Given the description of an element on the screen output the (x, y) to click on. 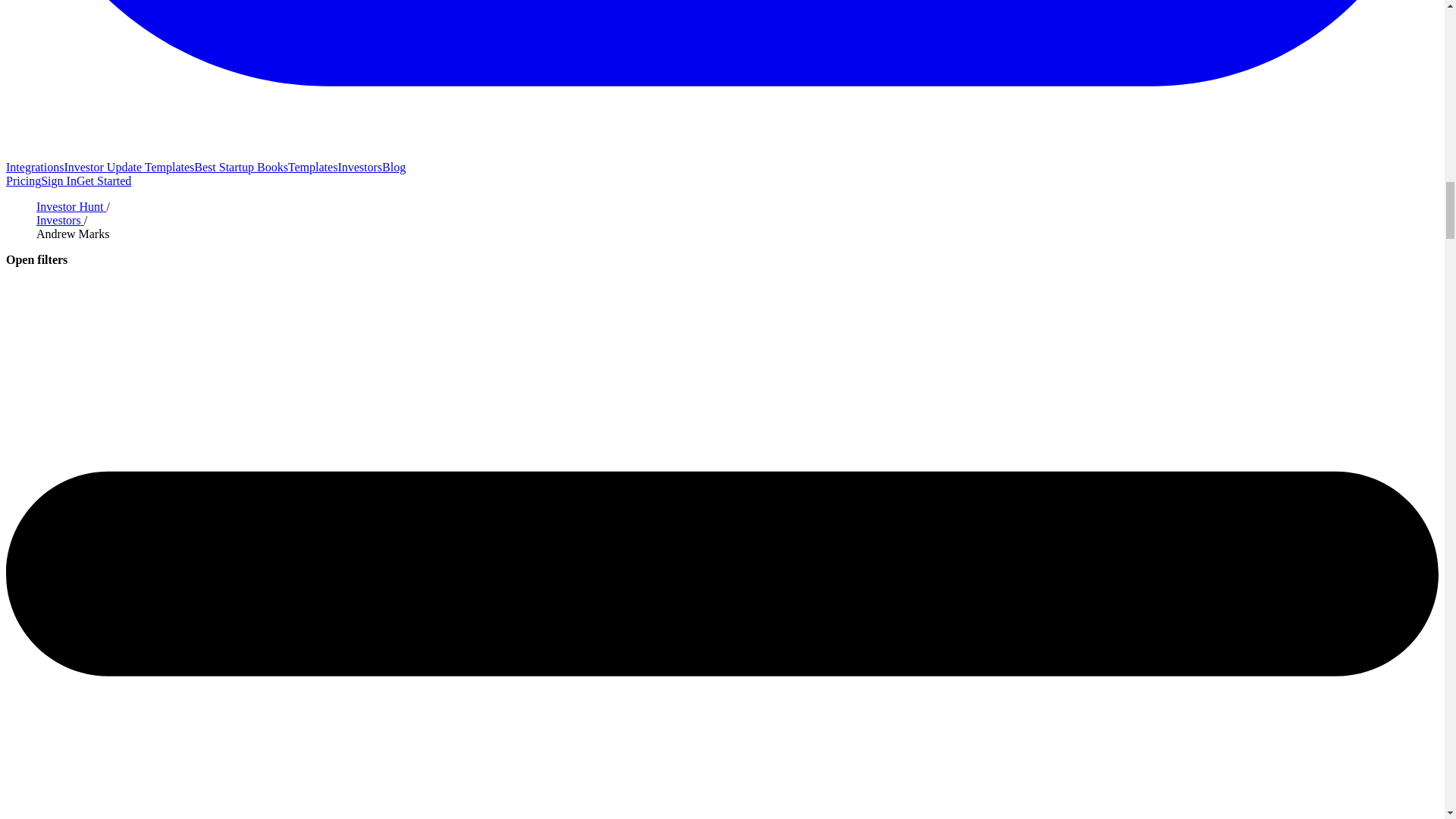
Investor Update Templates (128, 166)
Sign In (58, 180)
Investor Hunt (71, 205)
Best Startup Books (240, 166)
Investors (60, 219)
Templates (312, 166)
Investors (359, 166)
Get Started (104, 180)
Pricing (22, 180)
Blog (393, 166)
